Given the description of an element on the screen output the (x, y) to click on. 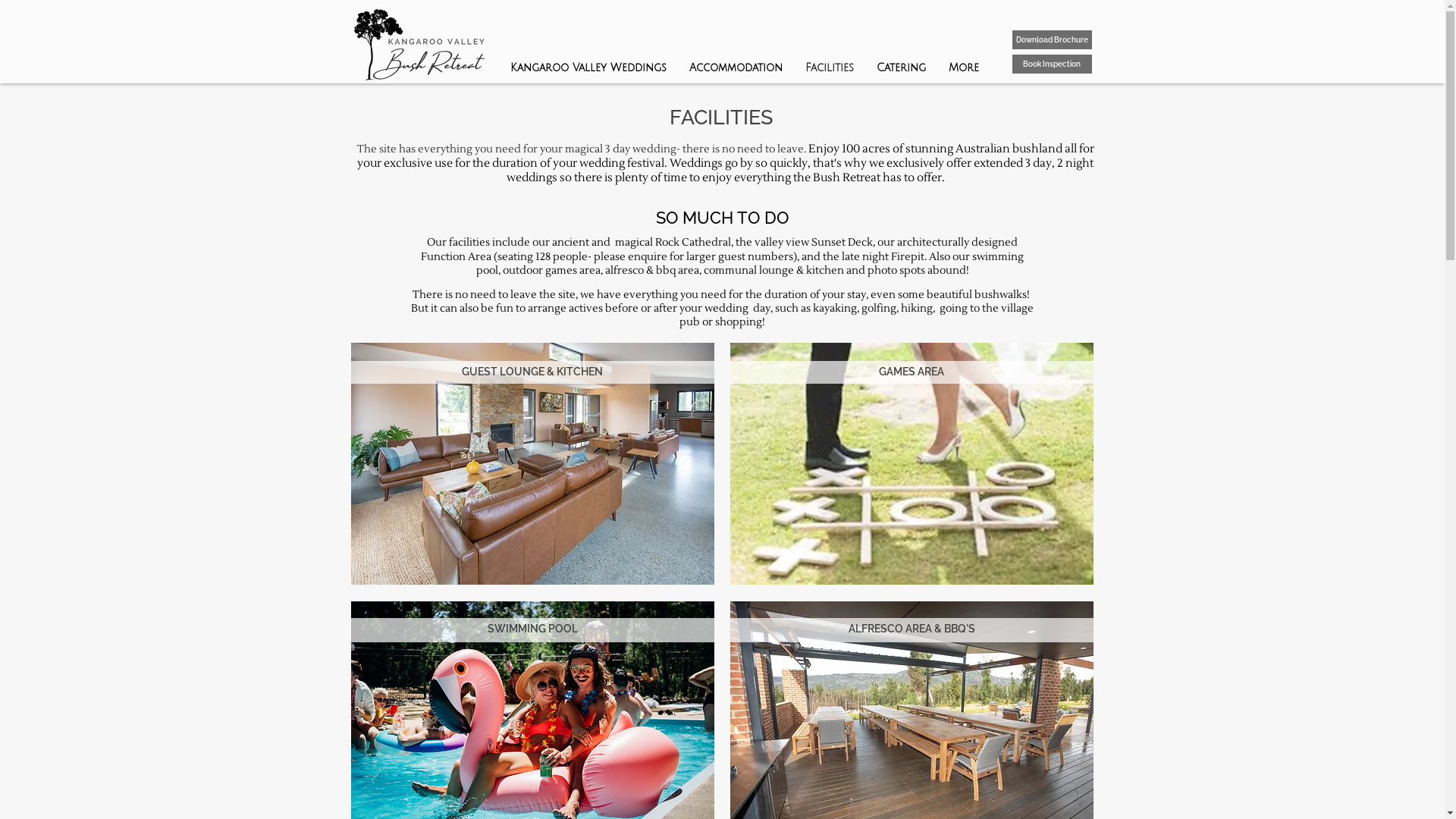
Kangaroo Valley Weddings Element type: text (587, 67)
Download Brochure Element type: text (1051, 39)
Book Inspection Element type: text (1051, 63)
Catering Element type: text (900, 67)
Accommodation Element type: text (735, 67)
Facilities Element type: text (828, 67)
